Given the description of an element on the screen output the (x, y) to click on. 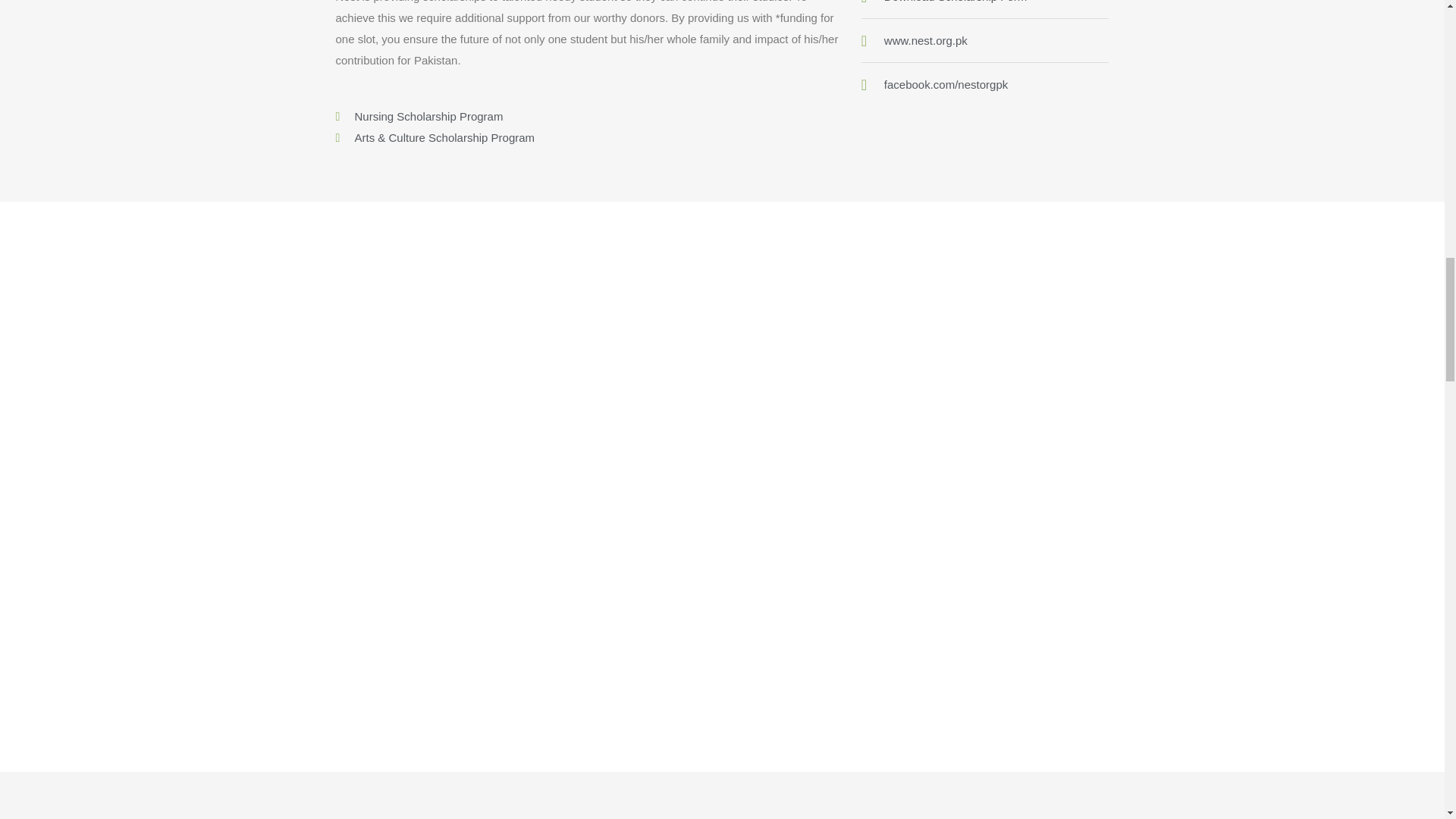
www.nest.org.pk (985, 40)
Download Scholarship Form (985, 3)
Nursing Scholarship Program (589, 116)
